Given the description of an element on the screen output the (x, y) to click on. 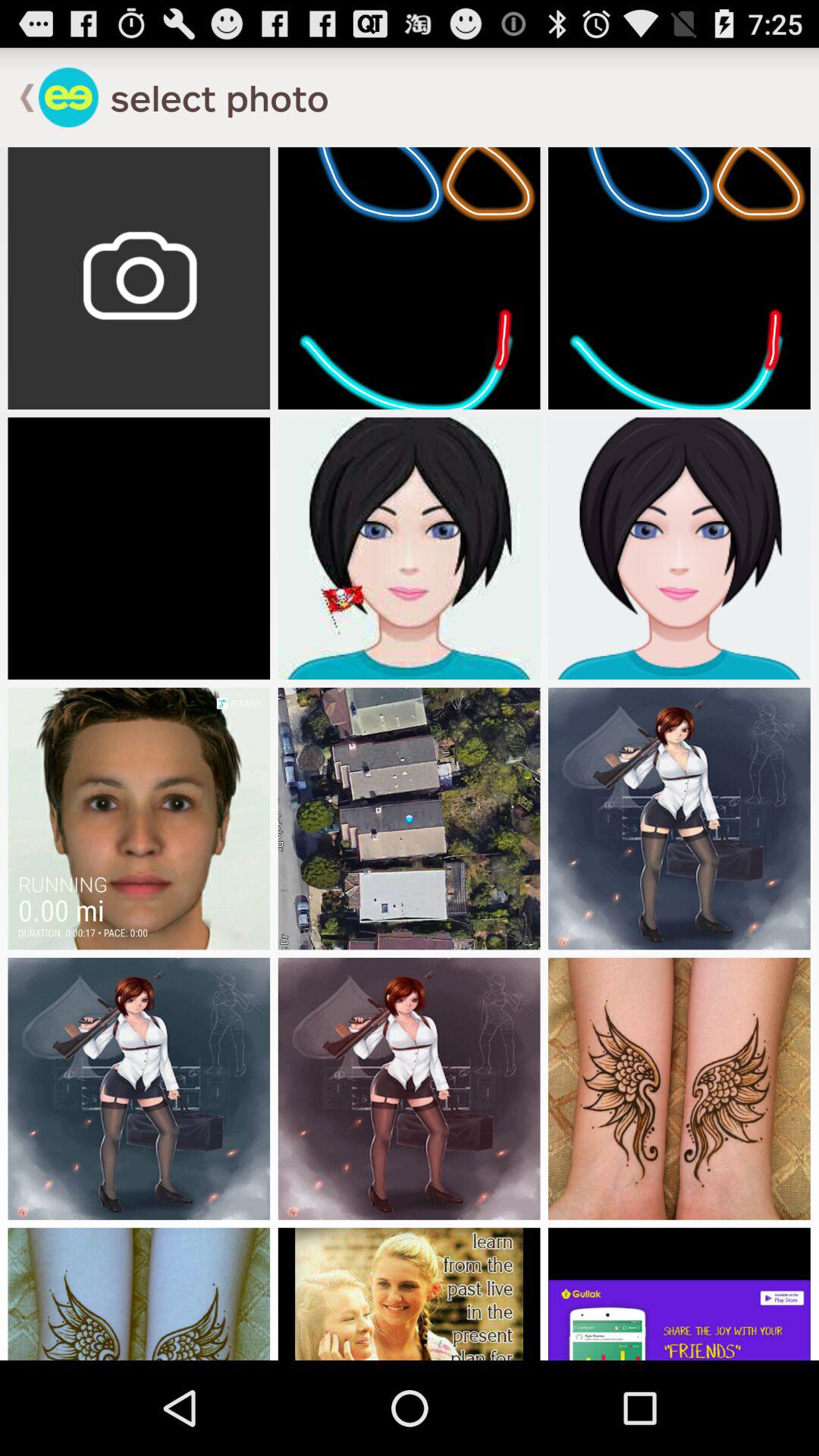
go back (19, 97)
